Given the description of an element on the screen output the (x, y) to click on. 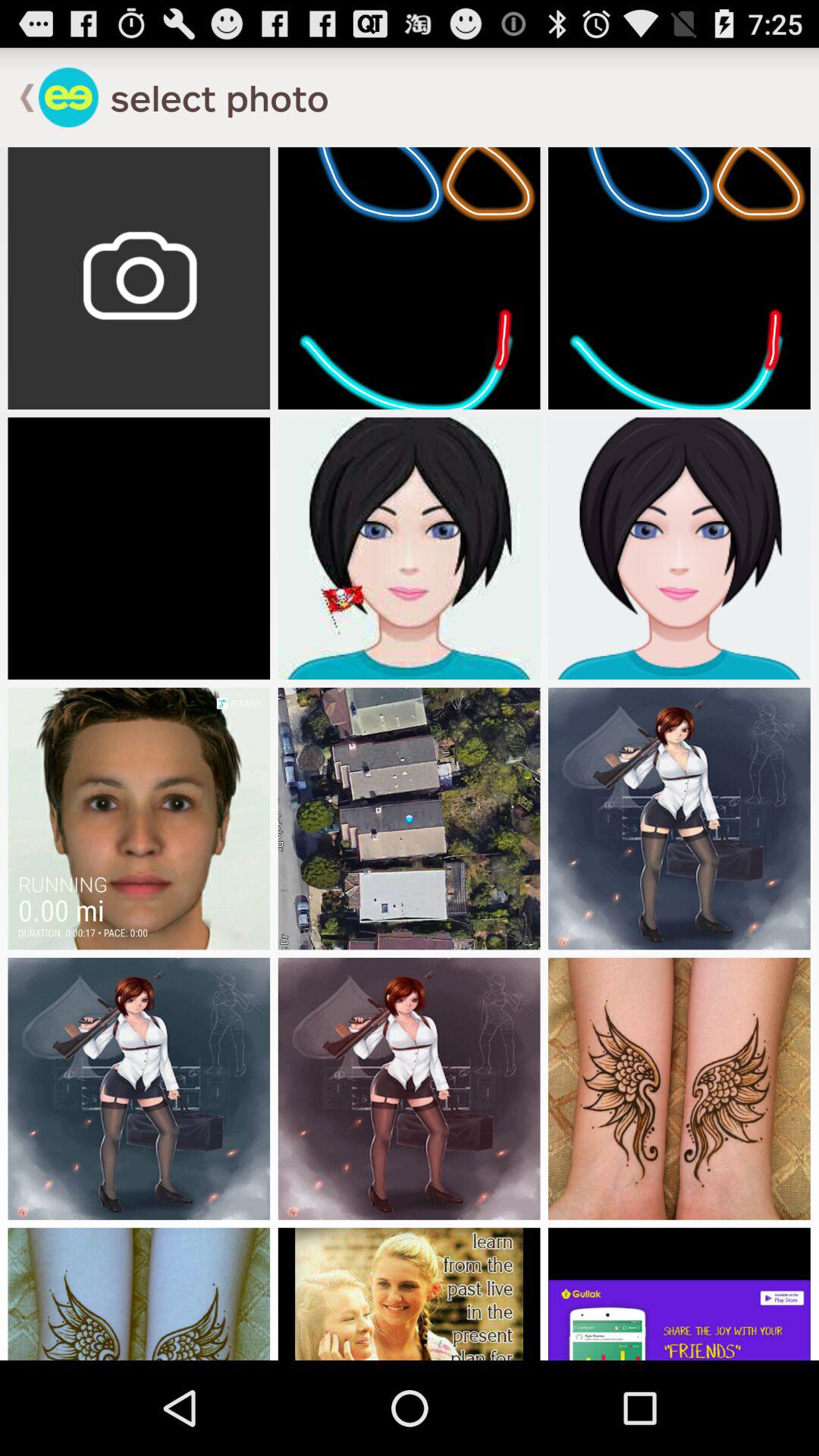
go back (19, 97)
